Given the description of an element on the screen output the (x, y) to click on. 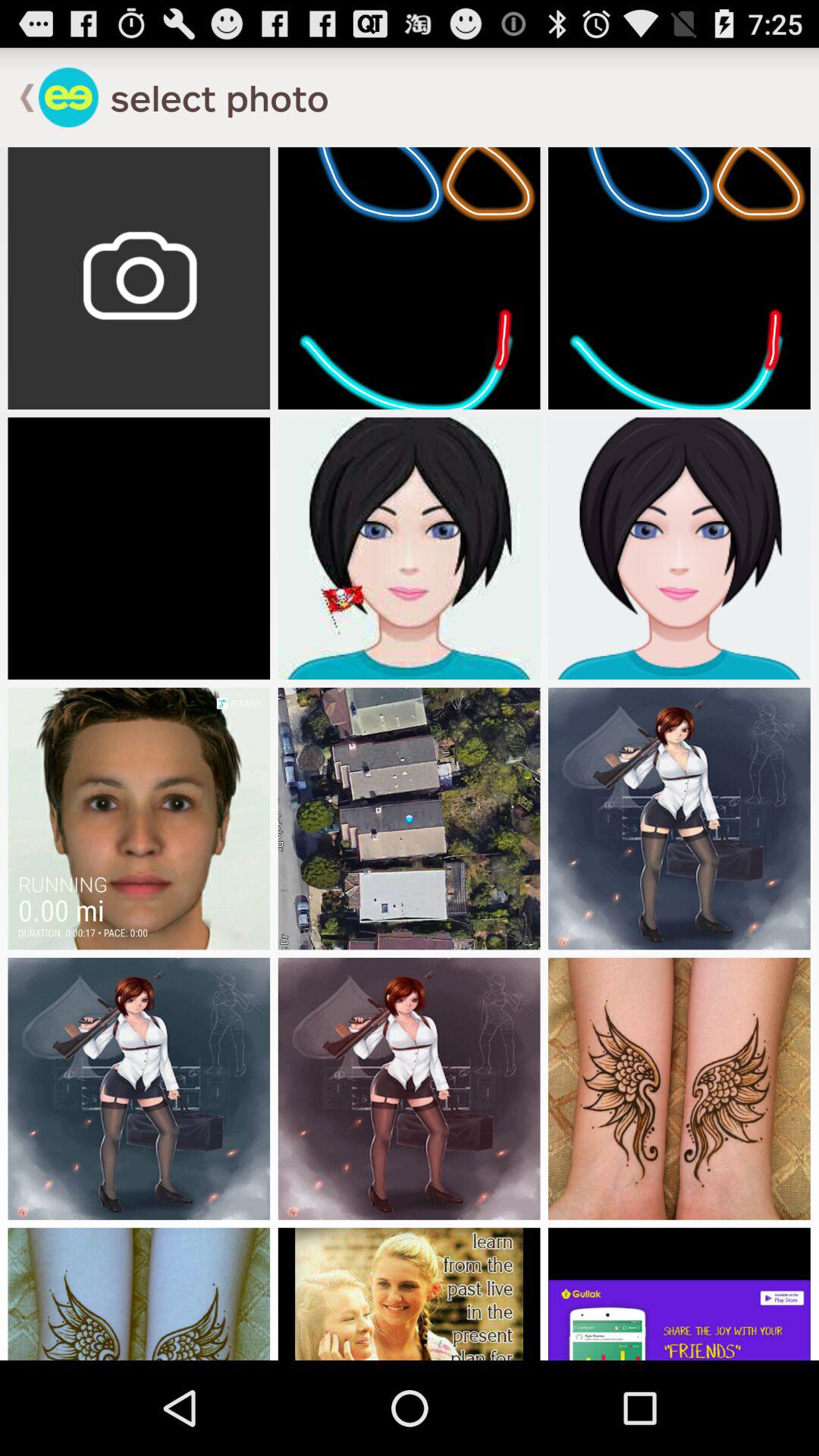
go back (19, 97)
